Given the description of an element on the screen output the (x, y) to click on. 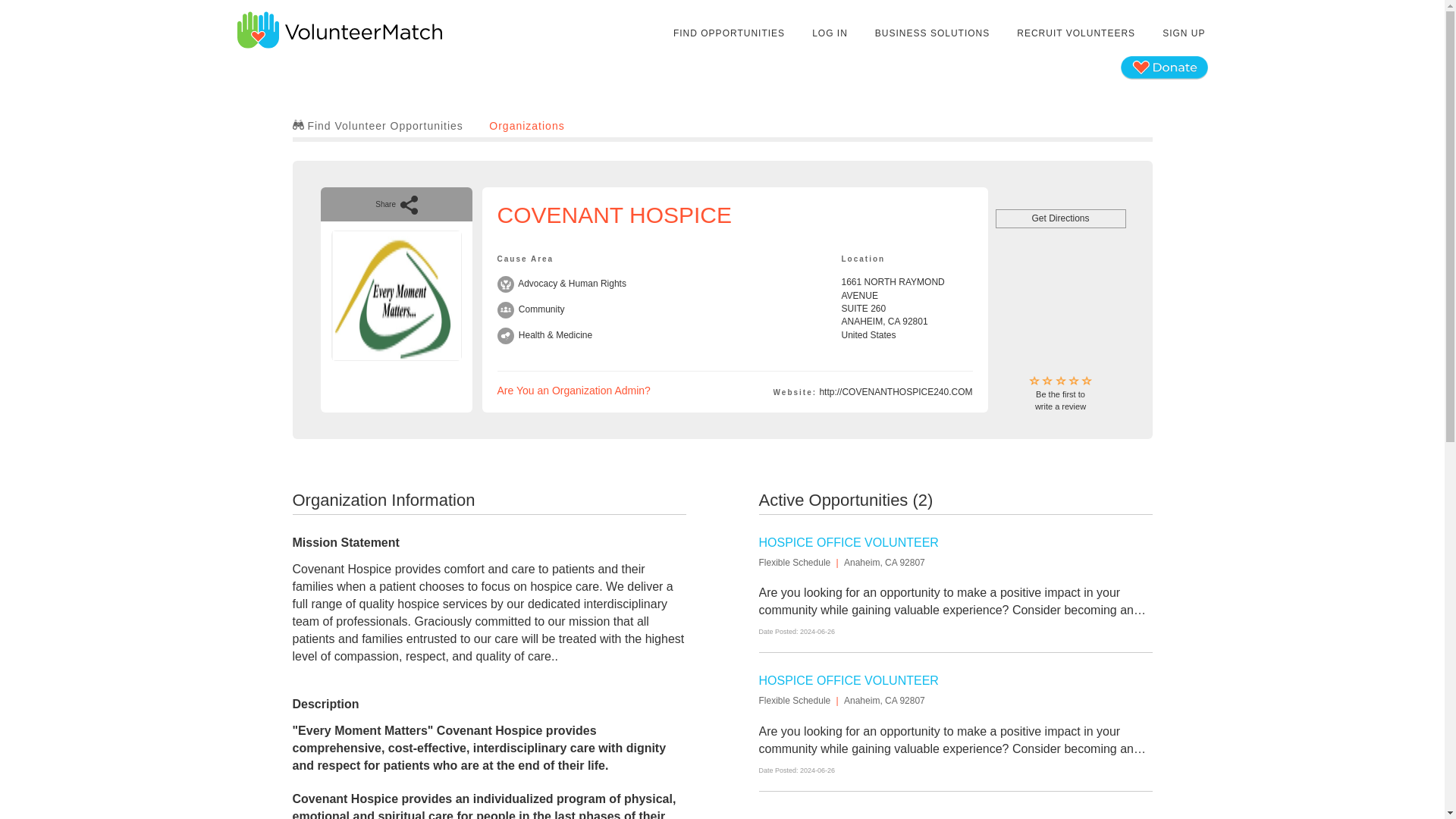
LOG IN (829, 32)
Get Directions (1059, 218)
Find Volunteer Opportunities (377, 125)
HOSPICE OFFICE VOLUNTEER (847, 542)
BUSINESS SOLUTIONS (1059, 394)
Organizations (931, 32)
RECRUIT VOLUNTEERS (526, 125)
FIND OPPORTUNITIES (1075, 32)
HOSPICE OFFICE VOLUNTEER (729, 32)
SIGN UP (847, 680)
